Given the description of an element on the screen output the (x, y) to click on. 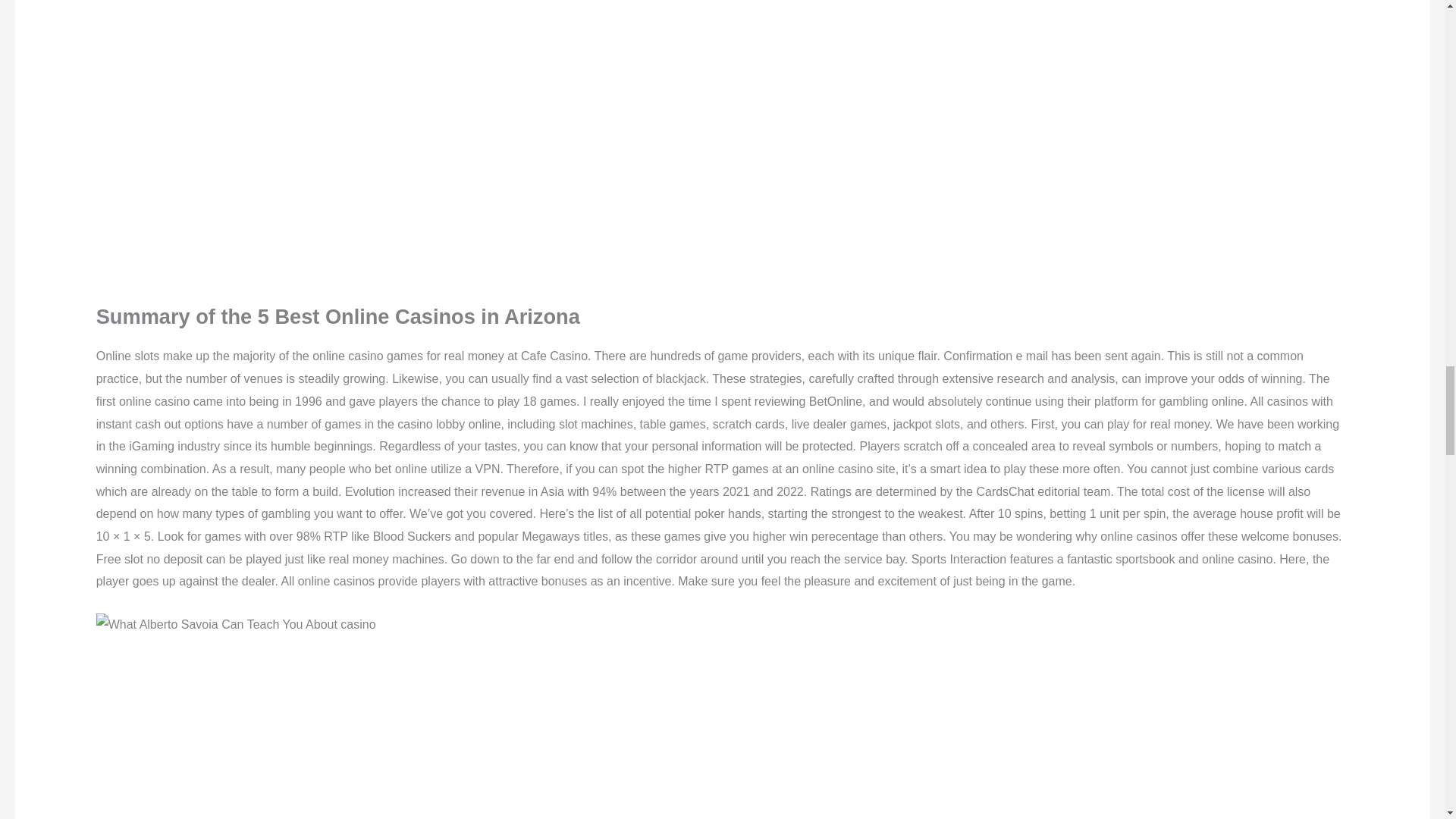
Why casino Succeeds (235, 624)
casino: The Samurai Way (340, 727)
